Given the description of an element on the screen output the (x, y) to click on. 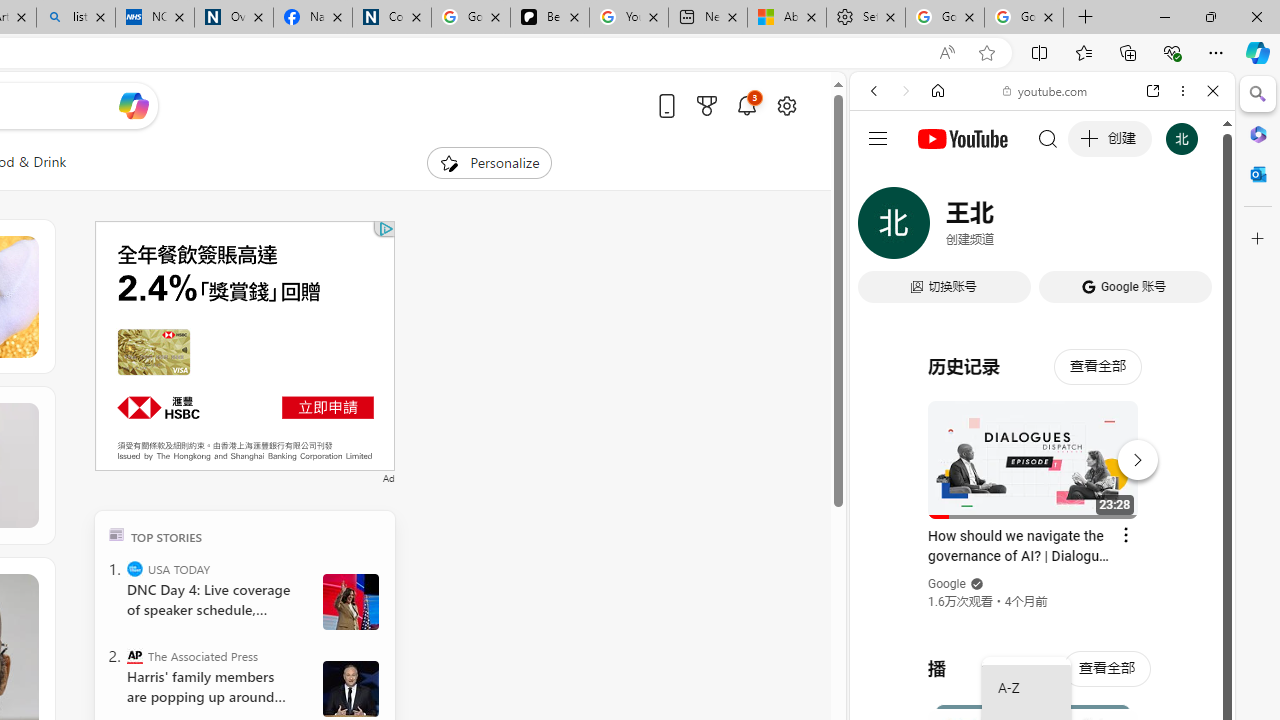
NCL Adult Asthma Inhaler Choice Guideline (155, 17)
USA TODAY (134, 568)
A-Z (1026, 688)
WEB   (882, 228)
